Given the description of an element on the screen output the (x, y) to click on. 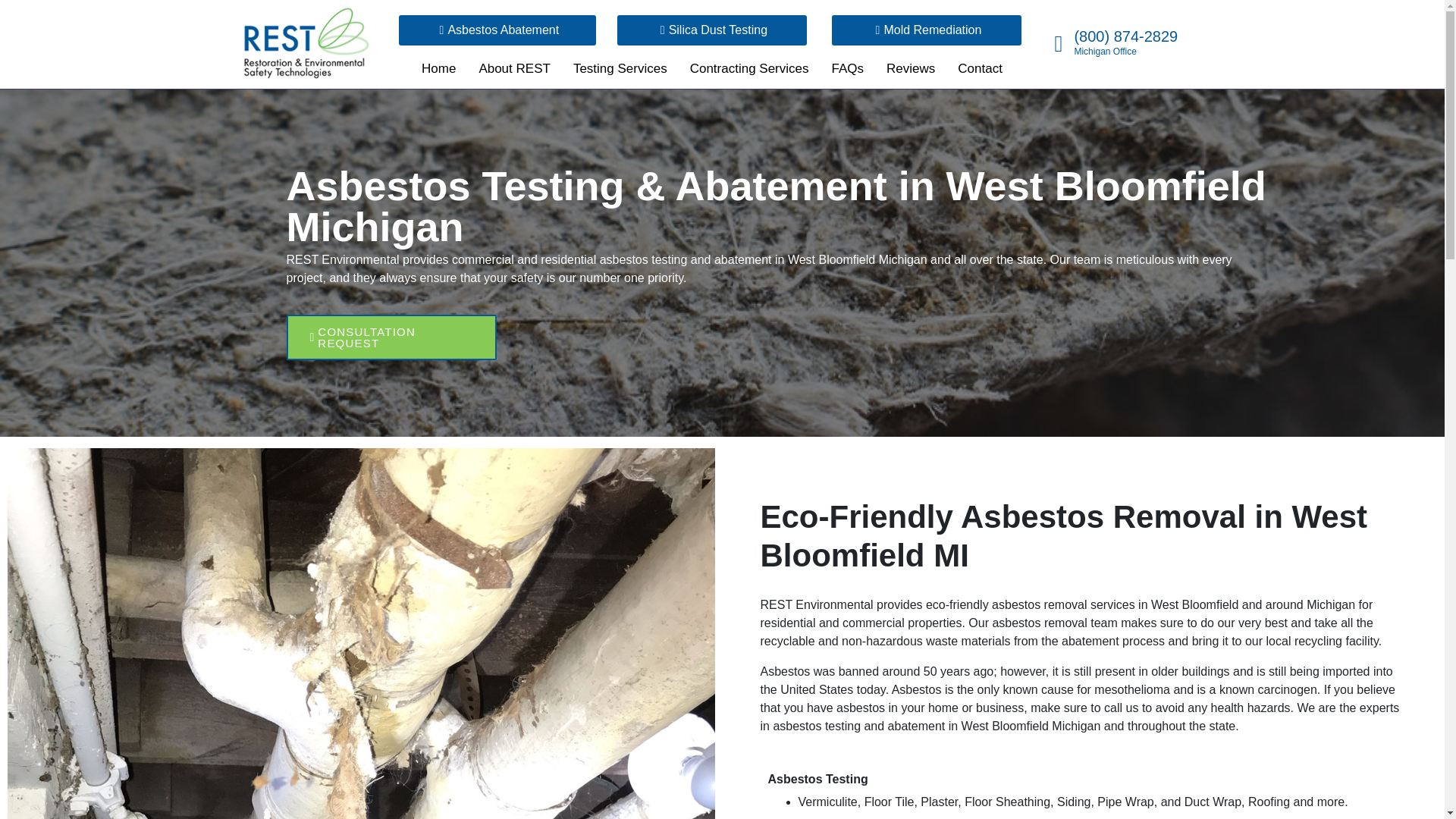
About REST (514, 70)
Home (438, 70)
Mold Remediation (926, 4)
Contracting Services (749, 70)
Reviews (910, 70)
Contact (980, 70)
FAQs (847, 70)
Testing Services (619, 70)
